Given the description of an element on the screen output the (x, y) to click on. 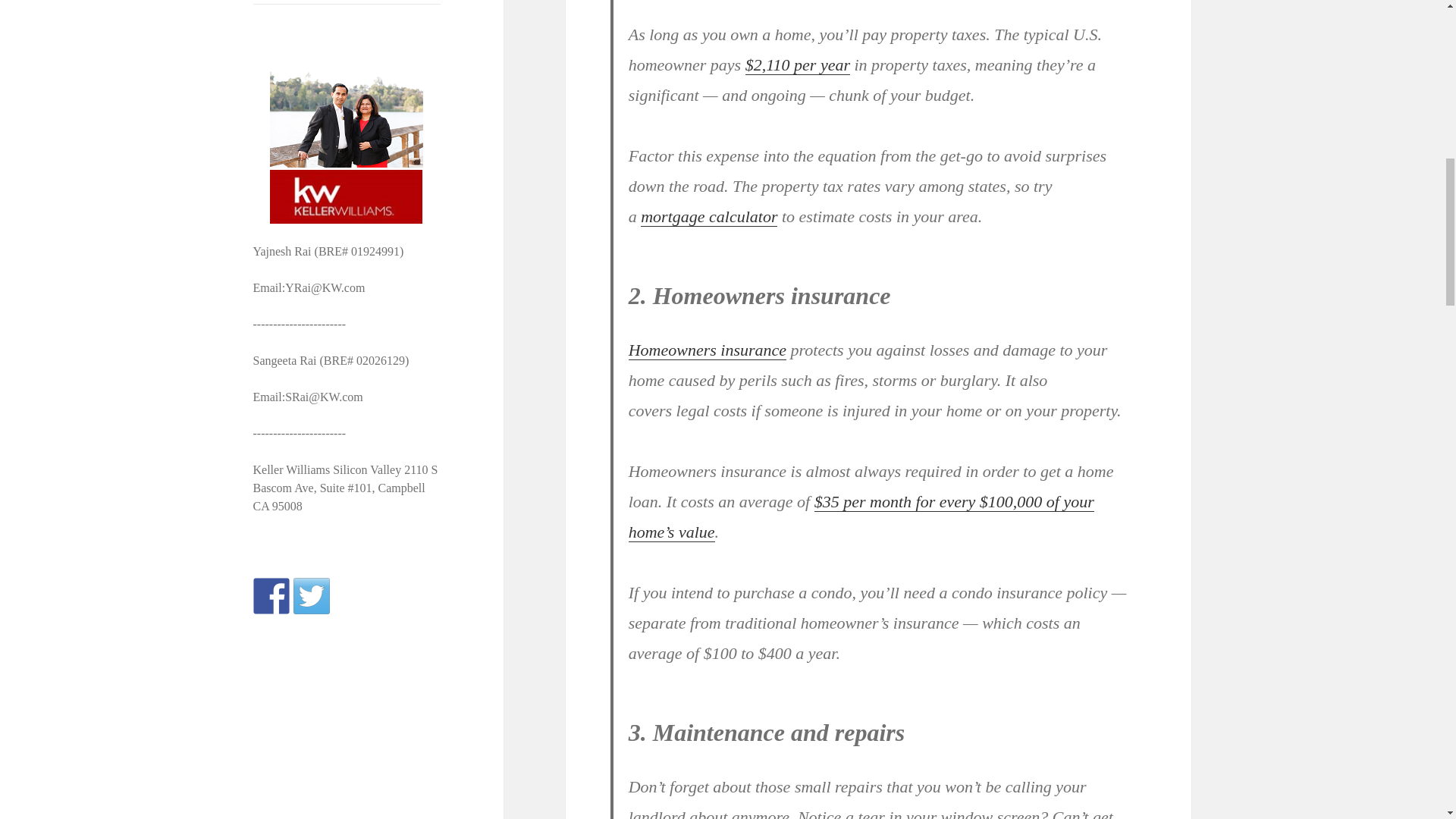
Homeowners insurance (707, 350)
Follow us on Facebook (271, 596)
Follow us on Twitter (312, 596)
Login Customizer (347, 2)
mortgage calculator (708, 216)
